Given the description of an element on the screen output the (x, y) to click on. 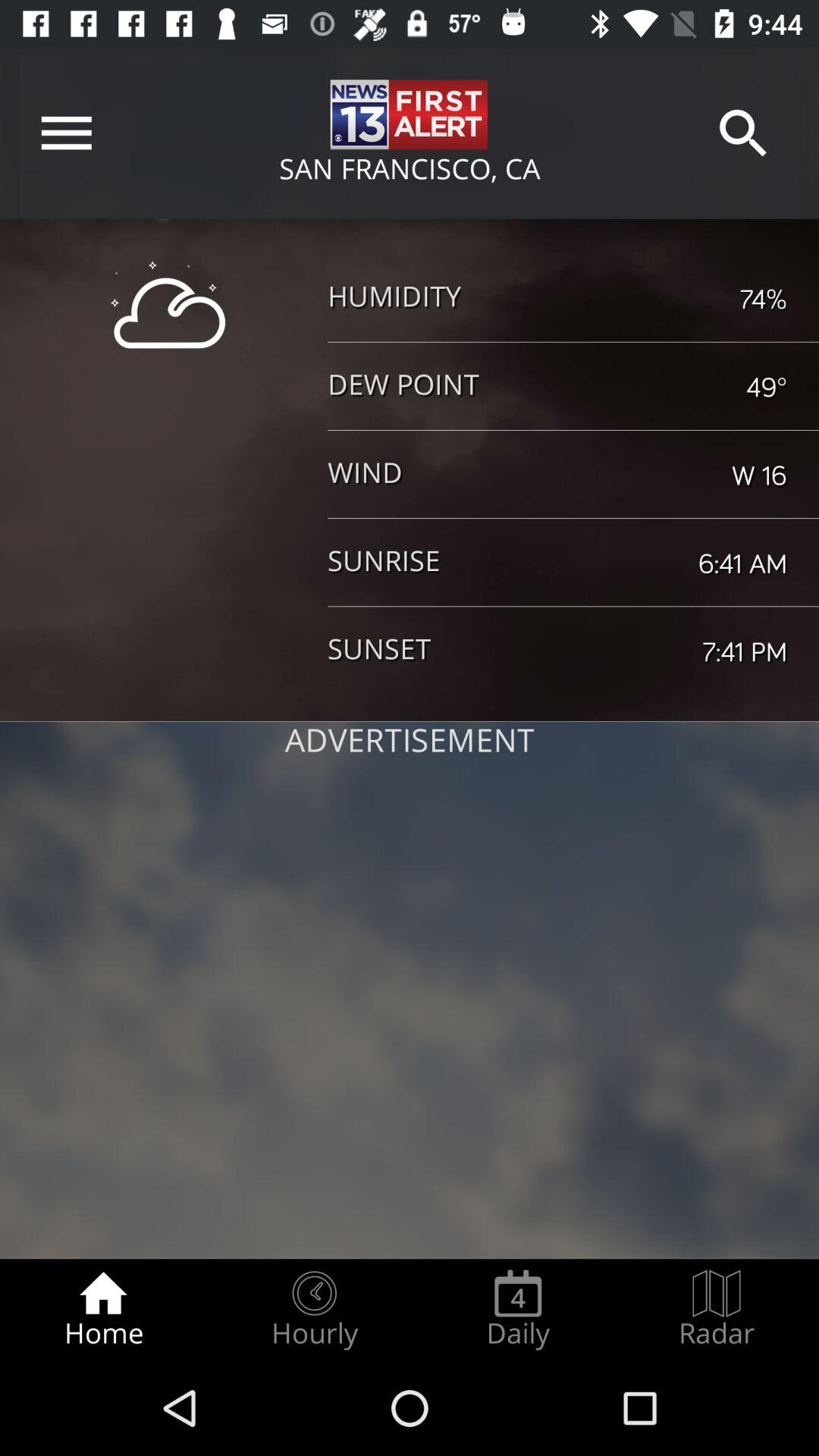
launch the icon next to radar radio button (518, 1309)
